Given the description of an element on the screen output the (x, y) to click on. 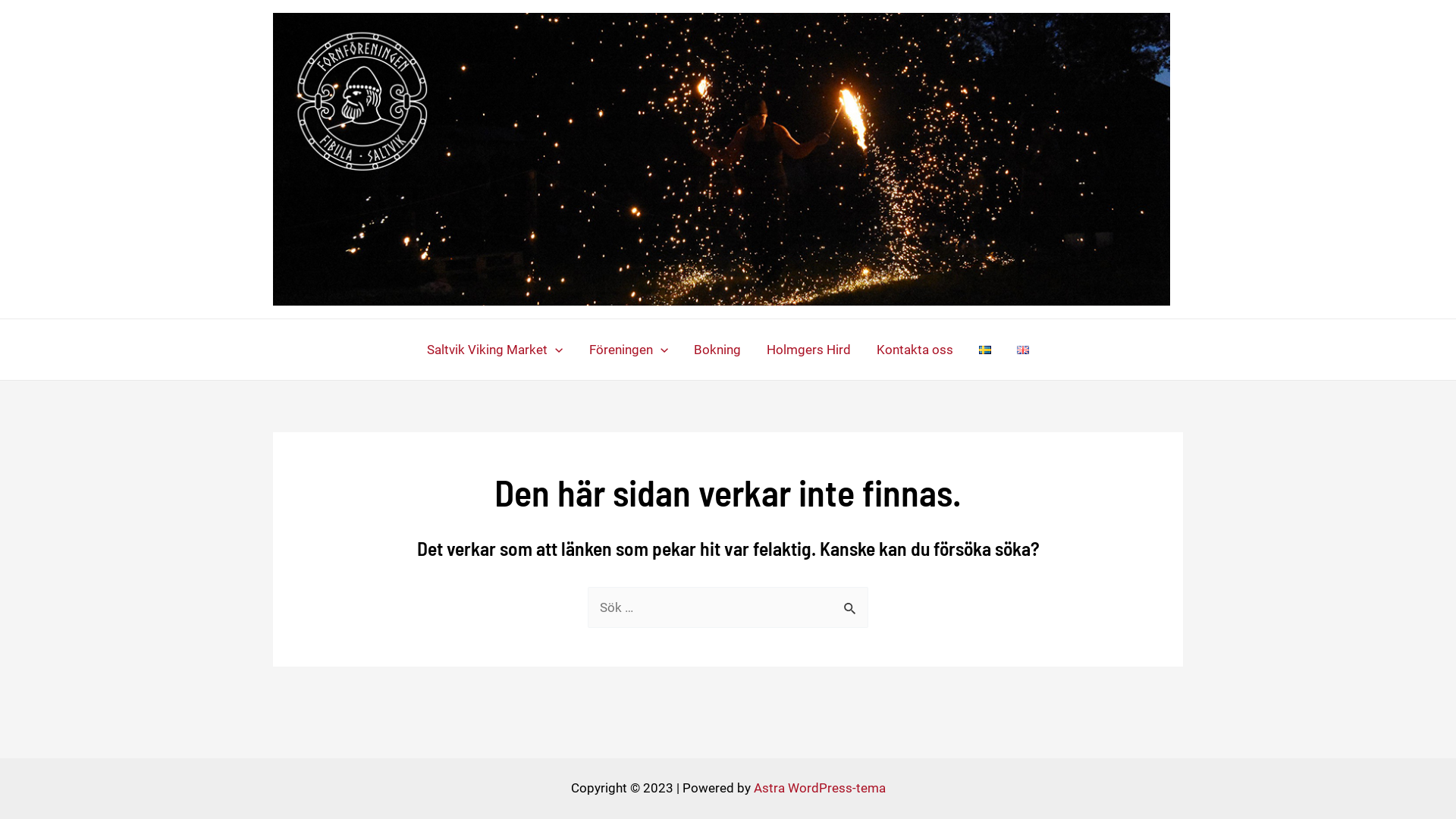
Holmgers Hird Element type: text (808, 349)
Saltvik Viking Market Element type: text (494, 349)
Bokning Element type: text (716, 349)
Astra WordPress-tema Element type: text (819, 787)
Kontakta oss Element type: text (914, 349)
